Given the description of an element on the screen output the (x, y) to click on. 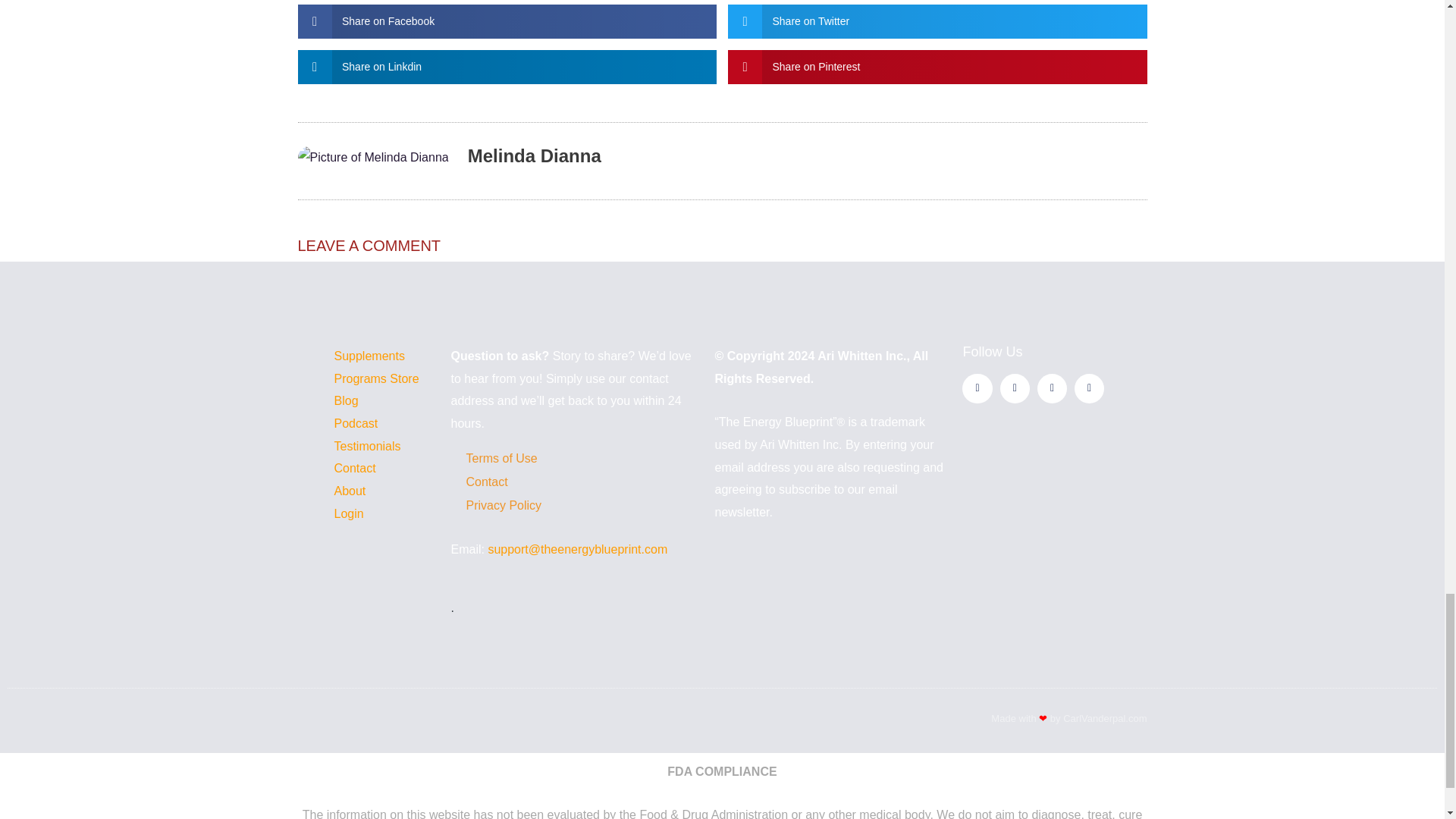
Privacy Policy (573, 505)
Blog (345, 400)
Login (347, 513)
Terms of Use (573, 458)
Facebook-f (976, 388)
Programs Store (376, 378)
. (573, 608)
About (349, 490)
Supplements (368, 355)
Podcast (355, 422)
